Given the description of an element on the screen output the (x, y) to click on. 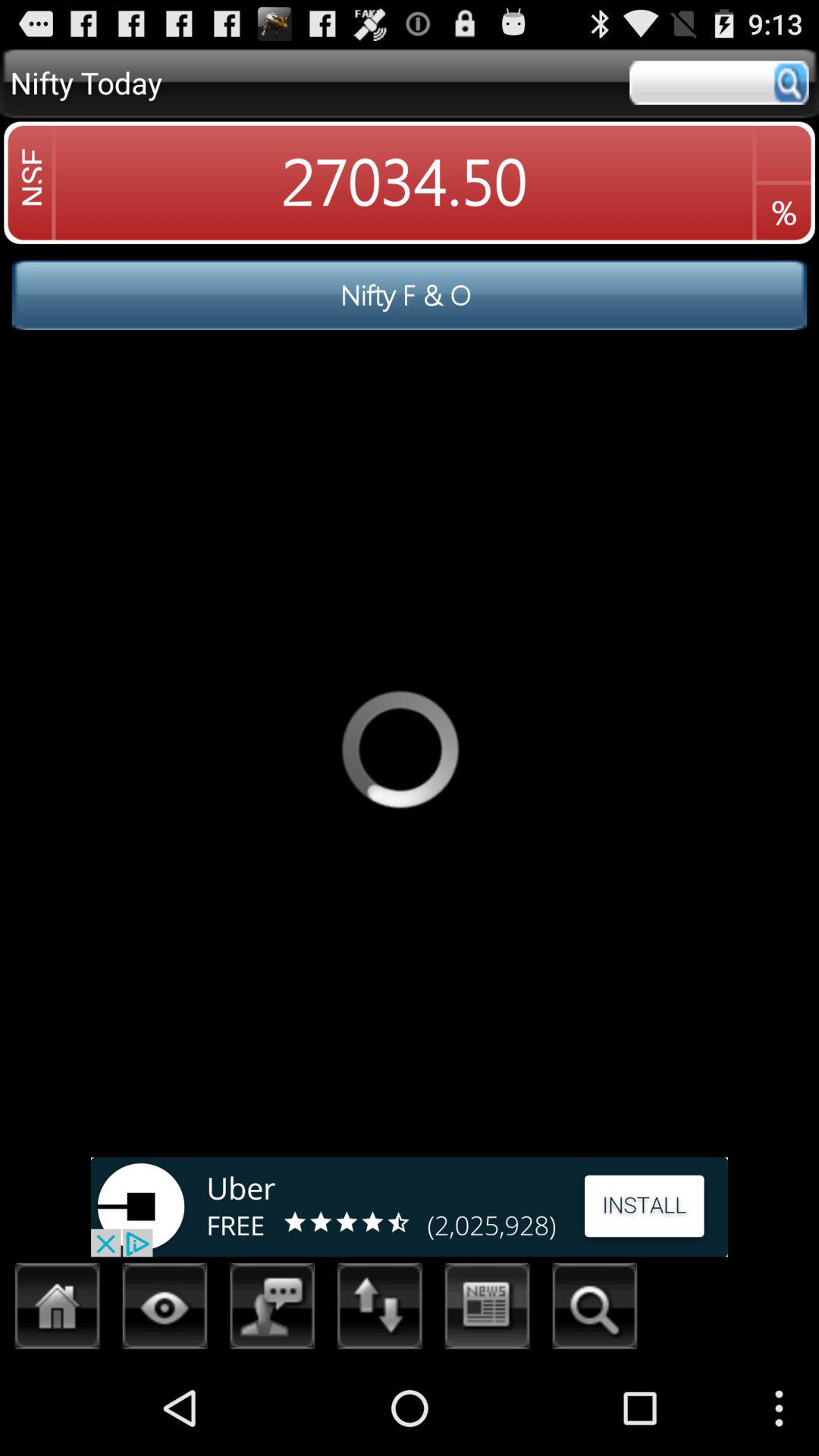
eye pega (164, 1310)
